Given the description of an element on the screen output the (x, y) to click on. 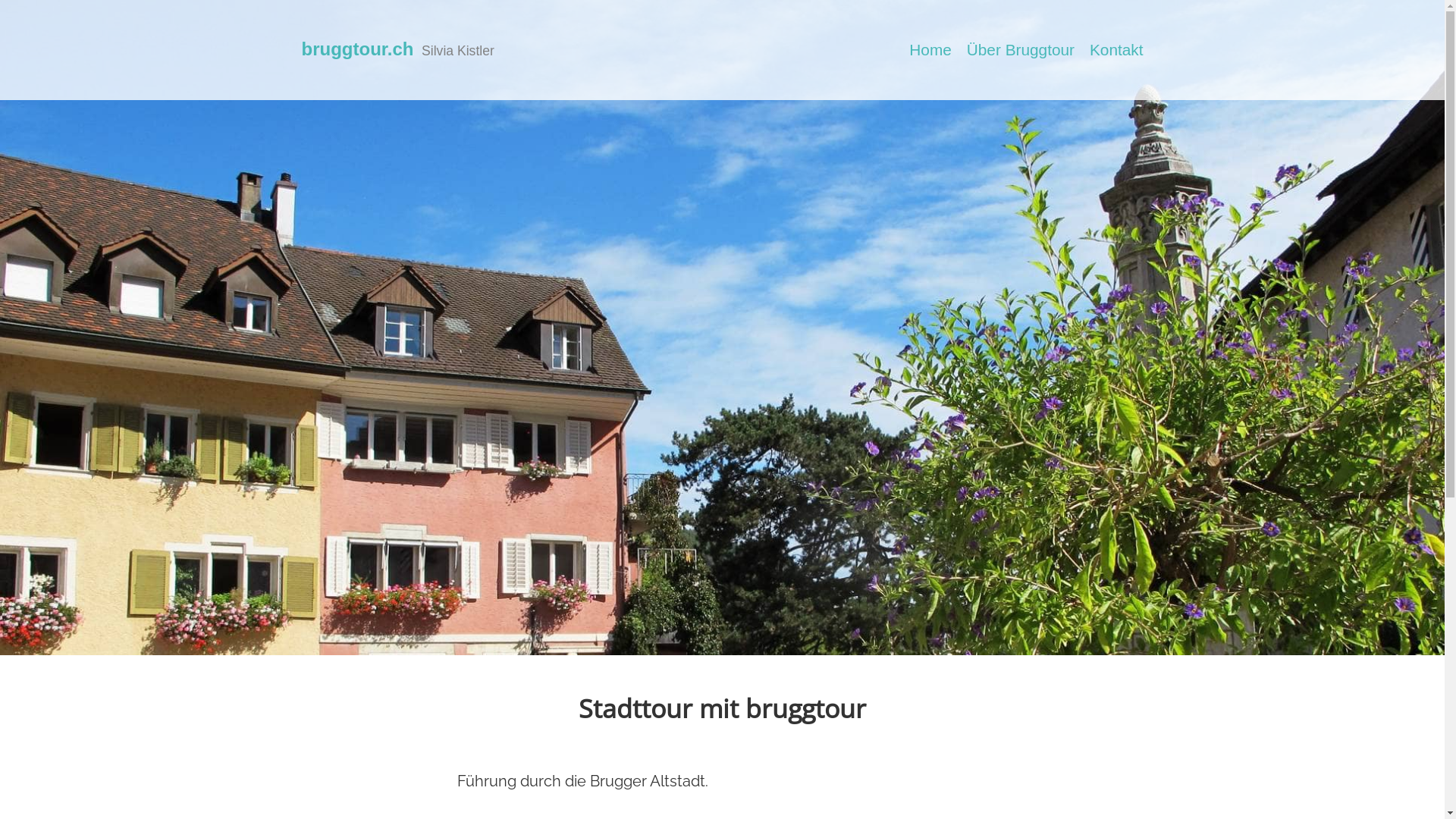
Kontakt Element type: text (1116, 49)
bruggtour.ch Element type: text (357, 48)
Home Element type: text (929, 49)
